Given the description of an element on the screen output the (x, y) to click on. 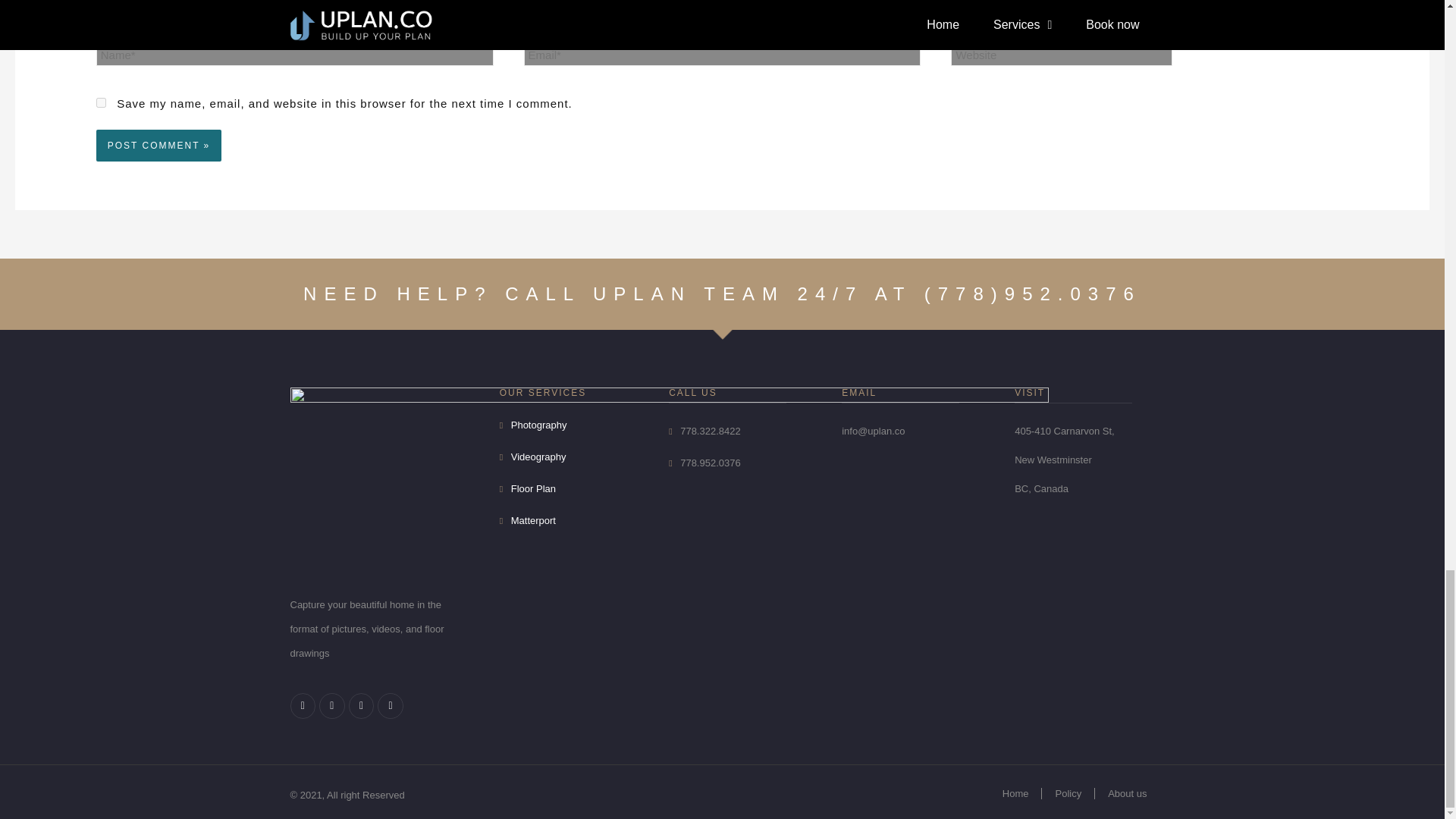
yes (101, 102)
